Given the description of an element on the screen output the (x, y) to click on. 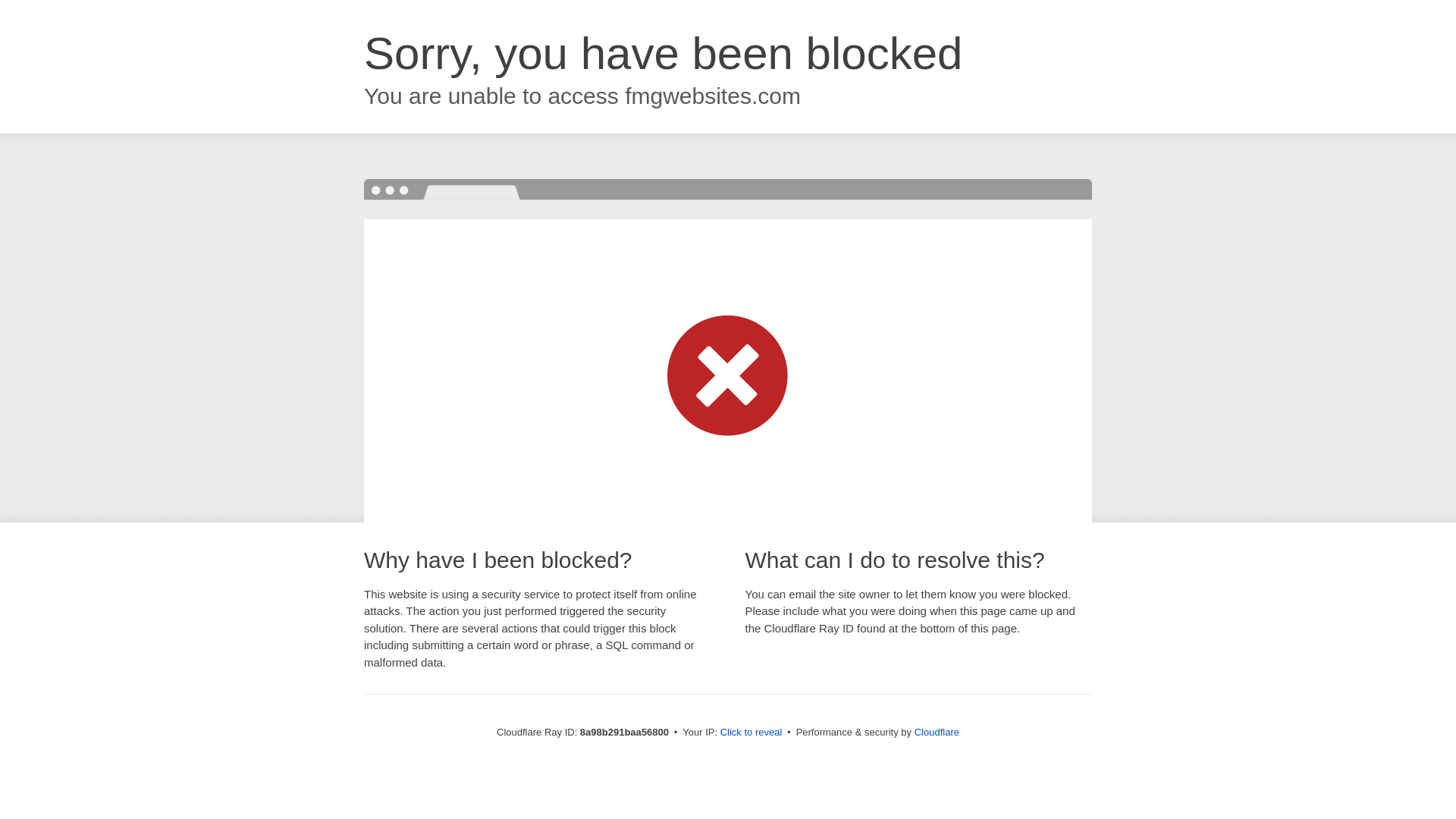
Click to reveal (751, 732)
Cloudflare (936, 731)
